Given the description of an element on the screen output the (x, y) to click on. 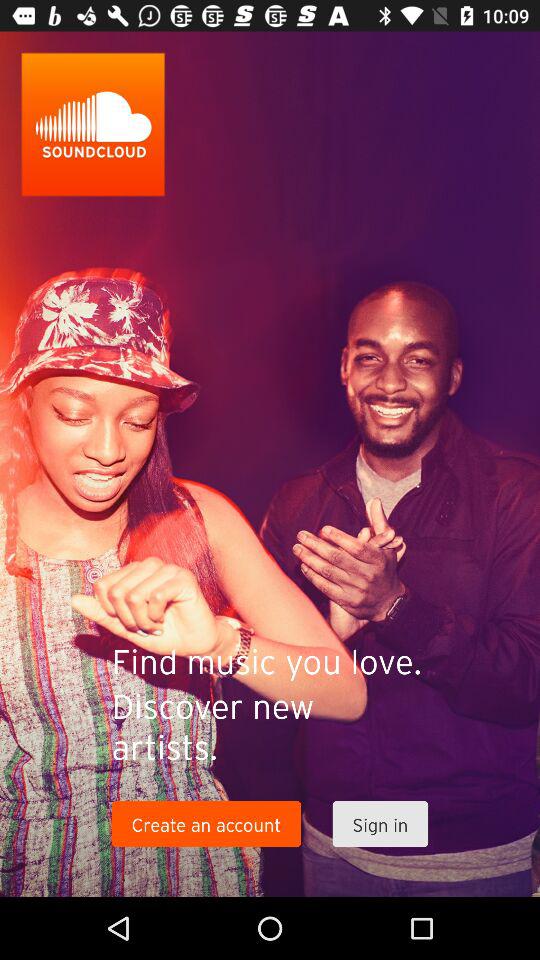
turn on the item at the bottom right corner (380, 824)
